Given the description of an element on the screen output the (x, y) to click on. 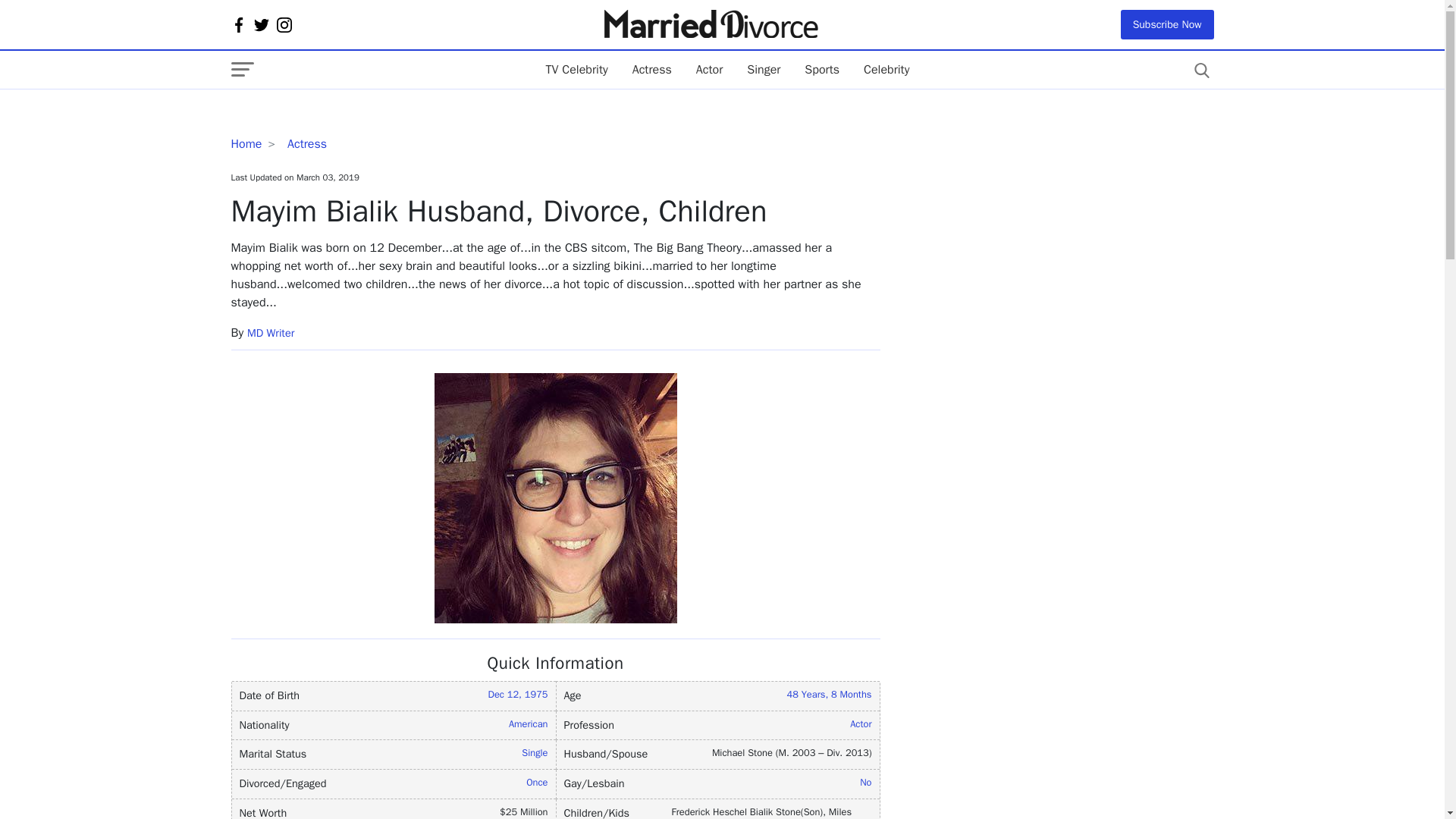
Subscribe Now (1167, 24)
Celebrity (886, 69)
TV Celebrity (577, 69)
MD Writer (270, 332)
Dec 12, 1975 (517, 694)
Singer (763, 69)
Connect with us on Facebook (238, 23)
Follow Us On instagram (283, 23)
Singer (763, 69)
Follow Us On twitter (260, 23)
